Given the description of an element on the screen output the (x, y) to click on. 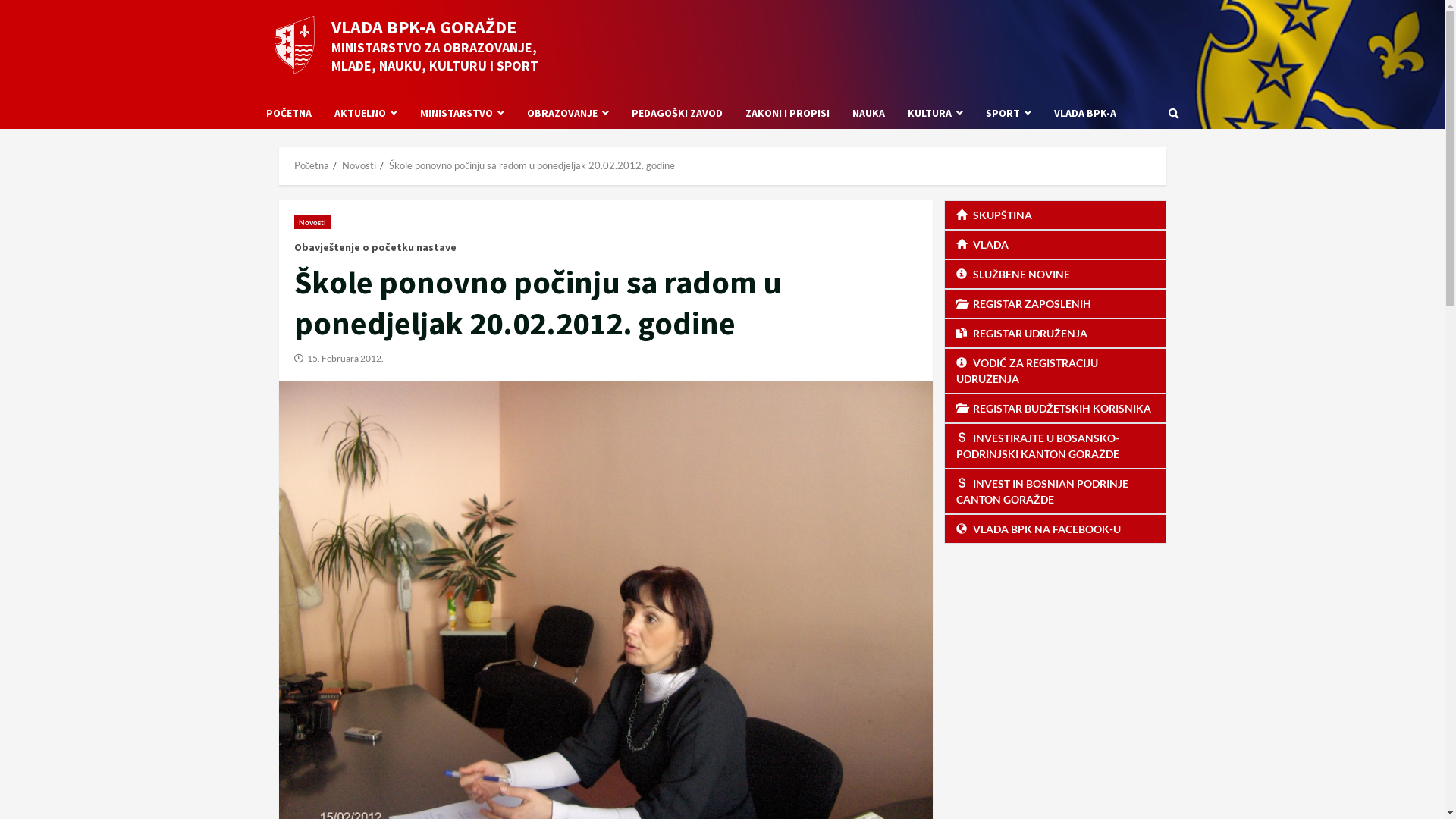
AKTUELNO Element type: text (365, 112)
MINISTARSTVO Element type: text (460, 112)
Novosti Element type: text (359, 165)
SPORT Element type: text (1007, 112)
NAUKA Element type: text (867, 112)
KULTURA Element type: text (935, 112)
Pretraga Element type: text (1139, 164)
OBRAZOVANJE Element type: text (567, 112)
VLADA BPK-A Element type: text (1078, 112)
ZAKONI I PROPISI Element type: text (787, 112)
Novosti Element type: text (312, 222)
VLADA BPK NA FACEBOOK-U Element type: text (1055, 528)
VLADA Element type: text (1055, 243)
REGISTAR ZAPOSLENIH Element type: text (1055, 302)
Search Element type: hover (1172, 112)
